Given the description of an element on the screen output the (x, y) to click on. 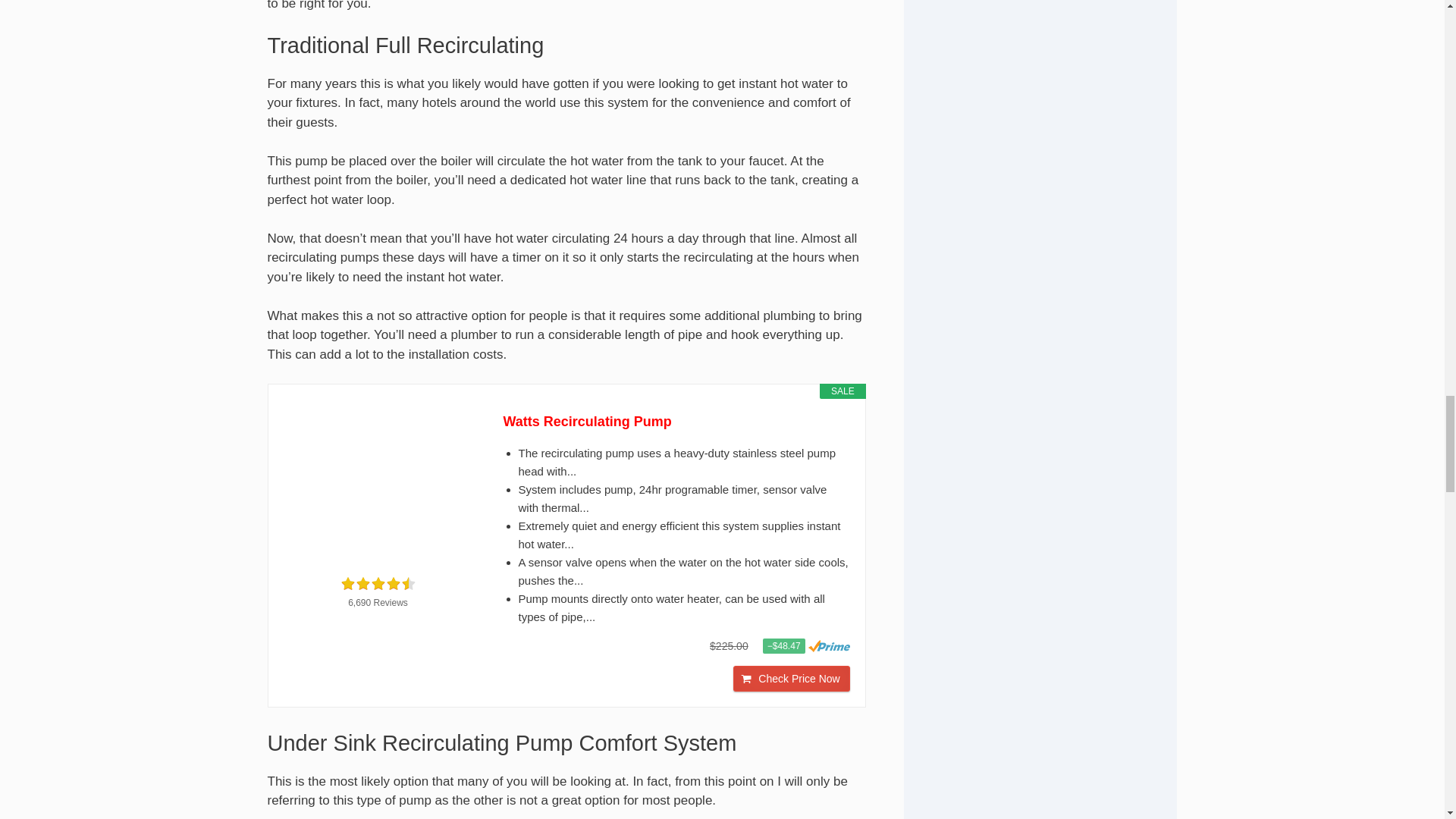
Reviews on Amazon (376, 583)
Watts Recirculating Pump (378, 486)
